Given the description of an element on the screen output the (x, y) to click on. 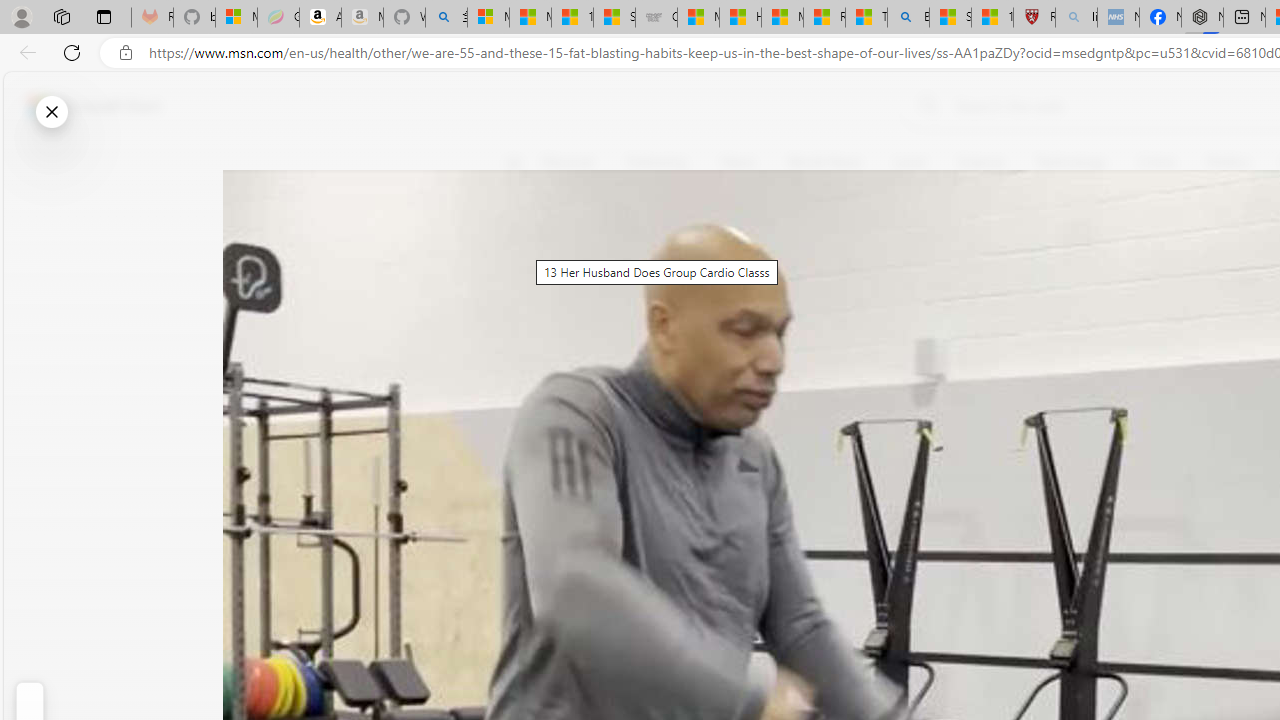
6 Like (525, 244)
Recipes - MSN (823, 17)
